Given the description of an element on the screen output the (x, y) to click on. 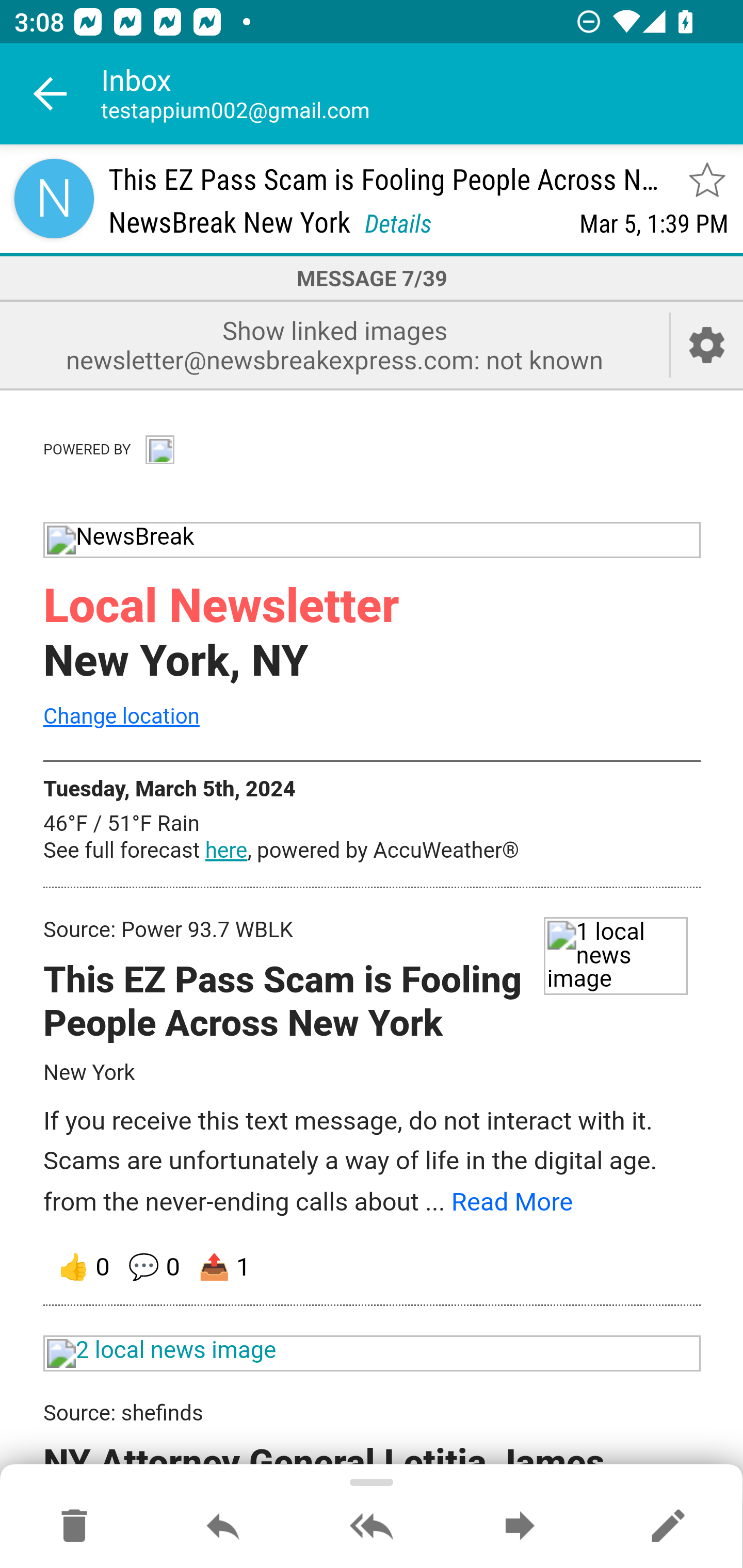
Navigate up (50, 93)
Inbox testappium002@gmail.com (422, 93)
Sender contact button (53, 198)
Account setup (706, 344)
info (159, 447)
Change location (121, 715)
here (225, 850)
👍 0   💬 0   📤 1 (372, 1267)
2 local news image (372, 1353)
Move to Deleted (74, 1527)
Reply (222, 1527)
Reply all (371, 1527)
Forward (519, 1527)
Reply as new (667, 1527)
